Given the description of an element on the screen output the (x, y) to click on. 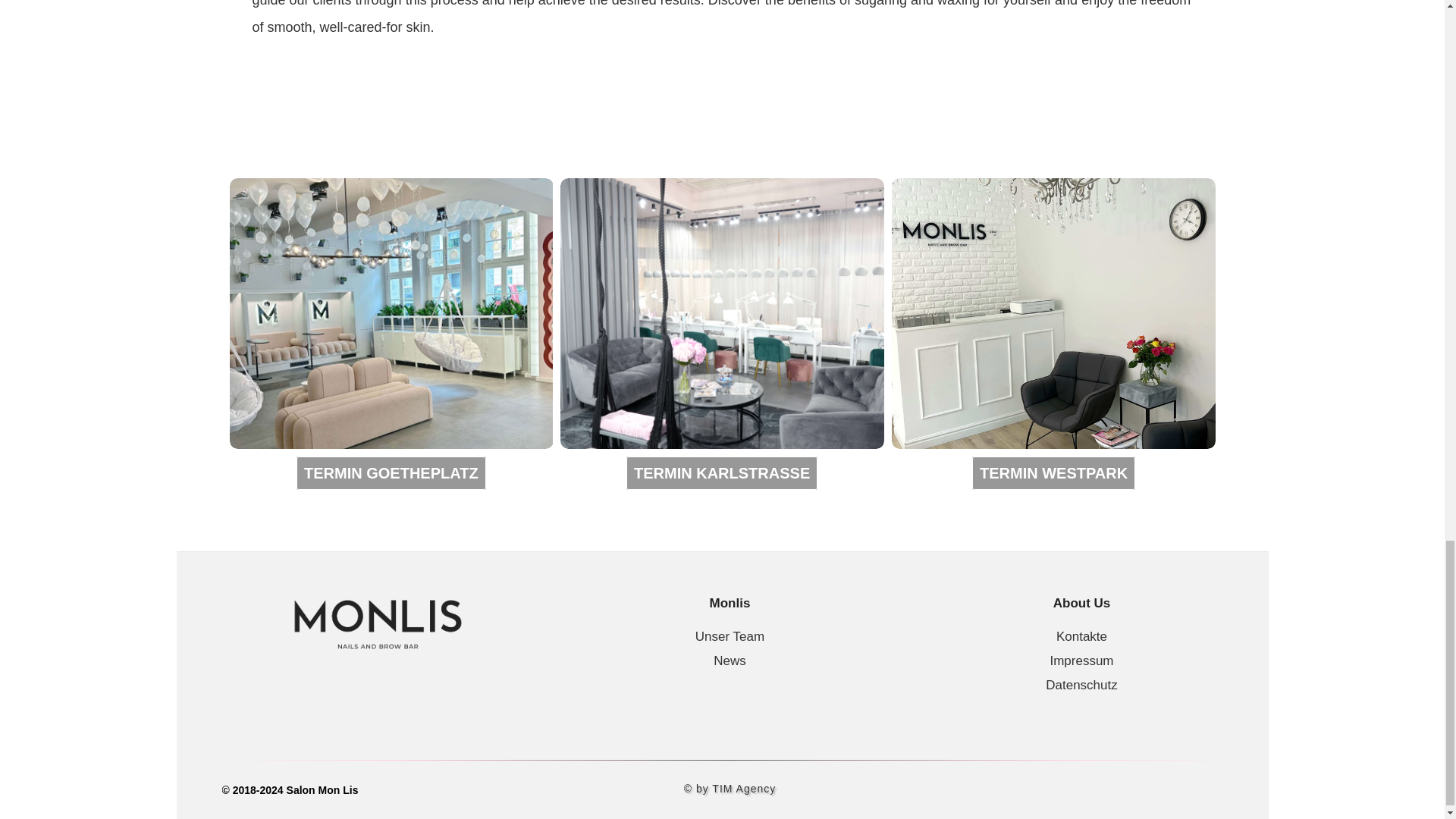
Kontakte (1081, 636)
Impressum (1081, 660)
TERMIN WESTPARK (1053, 472)
TERMIN GOETHEPLATZ (391, 472)
News (729, 660)
Unser Team (729, 636)
Datenschutz (1081, 685)
TERMIN KARLSTRASSE (721, 472)
